Given the description of an element on the screen output the (x, y) to click on. 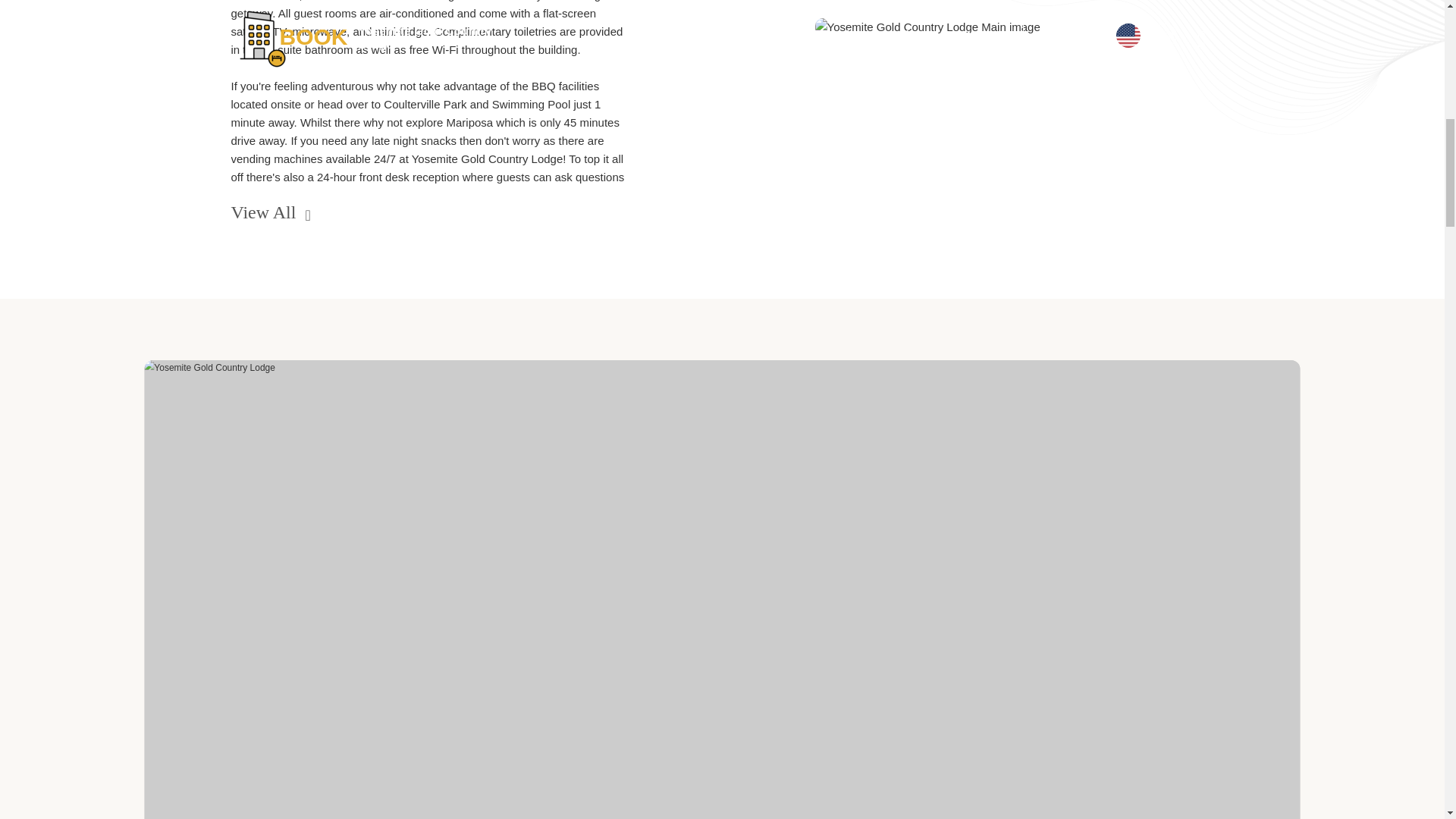
View All (429, 206)
